Given the description of an element on the screen output the (x, y) to click on. 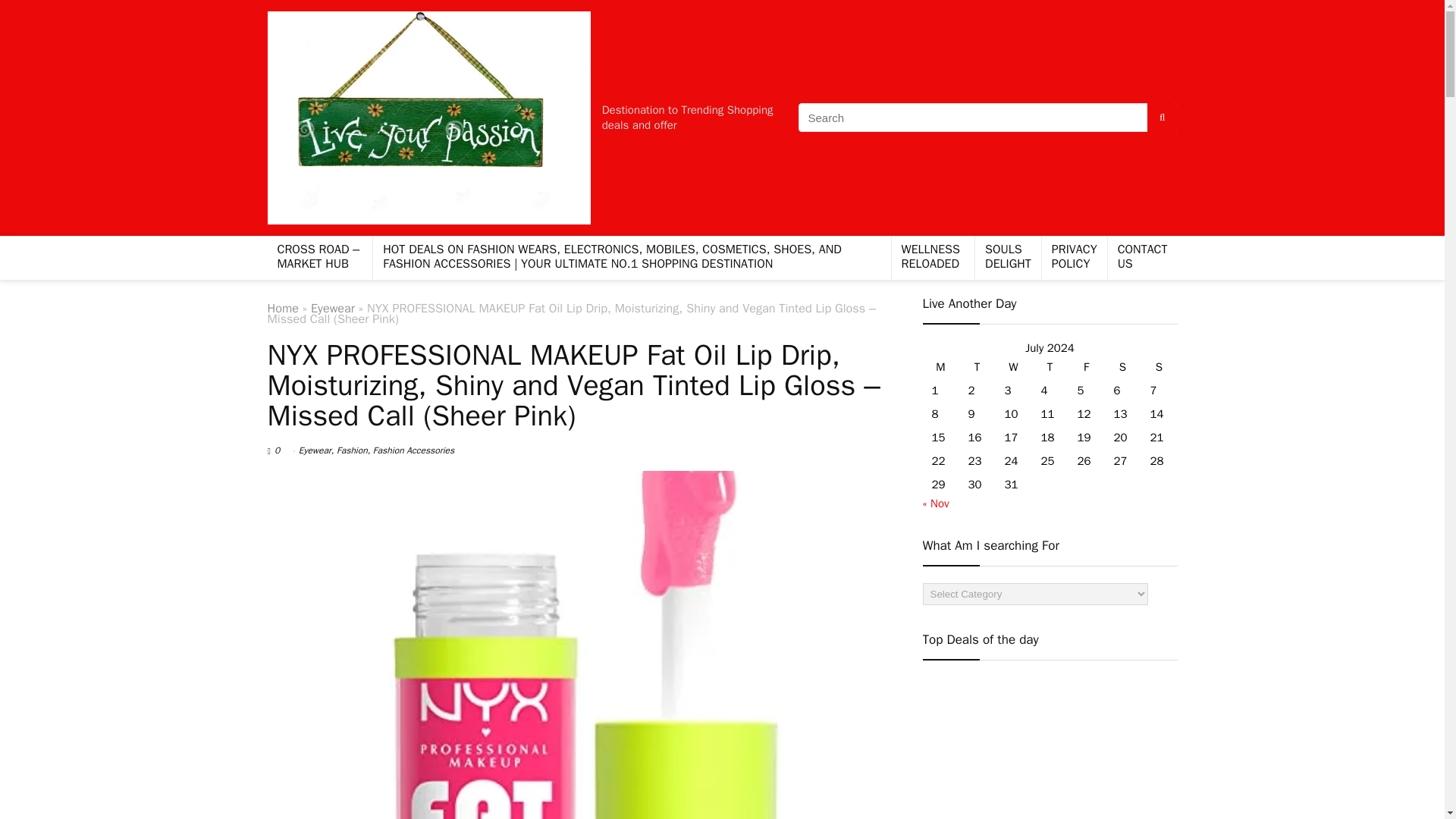
Friday (1085, 367)
View all posts in Fashion (352, 450)
View all posts in Eyewear (314, 450)
Eyewear (333, 308)
Monday (939, 367)
WELLNESS RELOADED (933, 258)
Tuesday (976, 367)
Wednesday (1012, 367)
0 (277, 450)
View all posts in Fashion Accessories (413, 450)
Thursday (1048, 367)
Saturday (1121, 367)
Fashion Accessories (413, 450)
Home (282, 308)
SOULS DELIGHT (1008, 258)
